Given the description of an element on the screen output the (x, y) to click on. 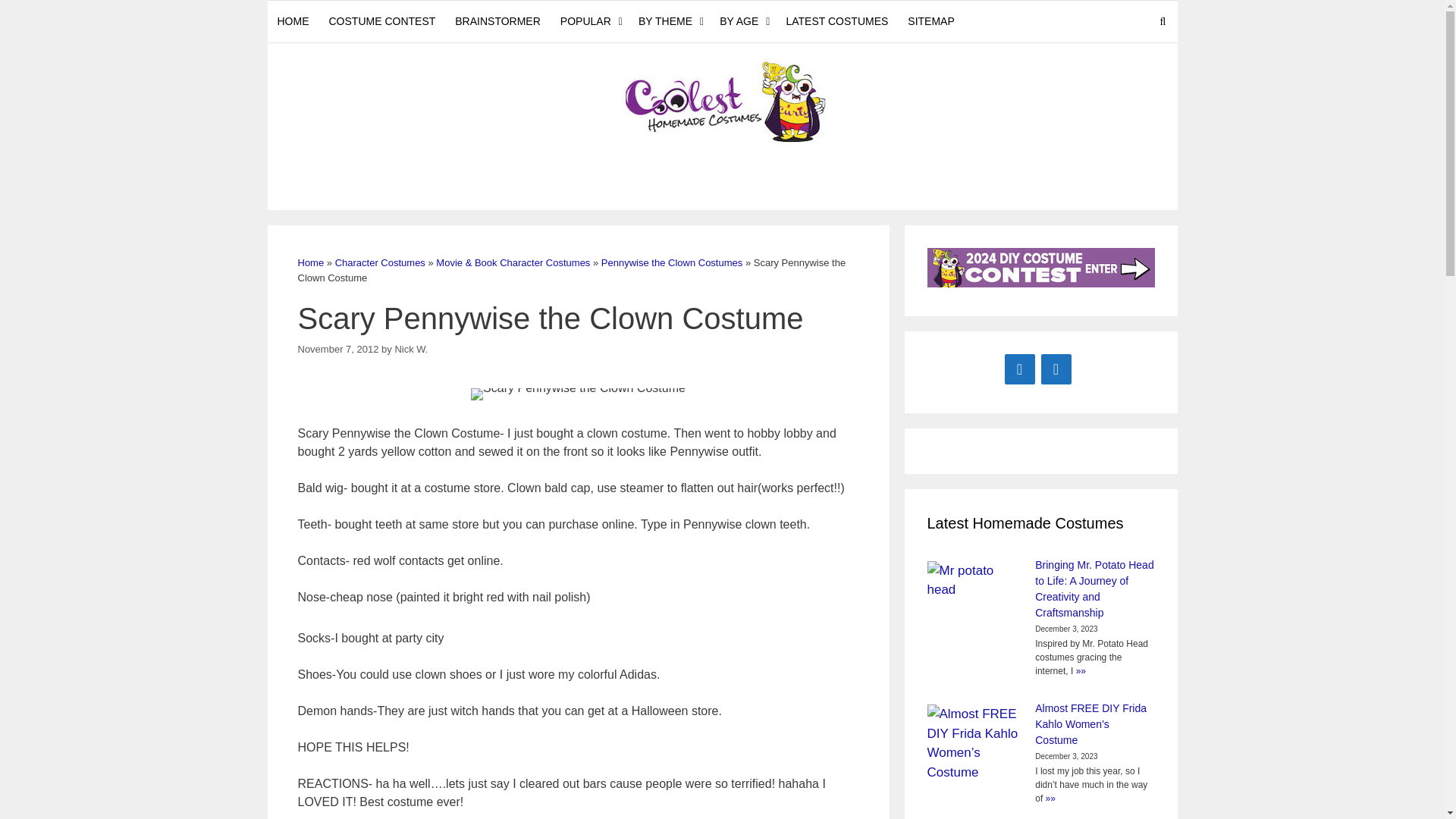
HOME (292, 21)
Instagram (1055, 368)
Facebook (1018, 368)
SITEMAP (930, 21)
POPULAR (589, 21)
BY AGE (743, 21)
COSTUME CONTEST (381, 21)
BRAINSTORMER (497, 21)
LATEST COSTUMES (837, 21)
View all posts by Nick W. (411, 348)
